Given the description of an element on the screen output the (x, y) to click on. 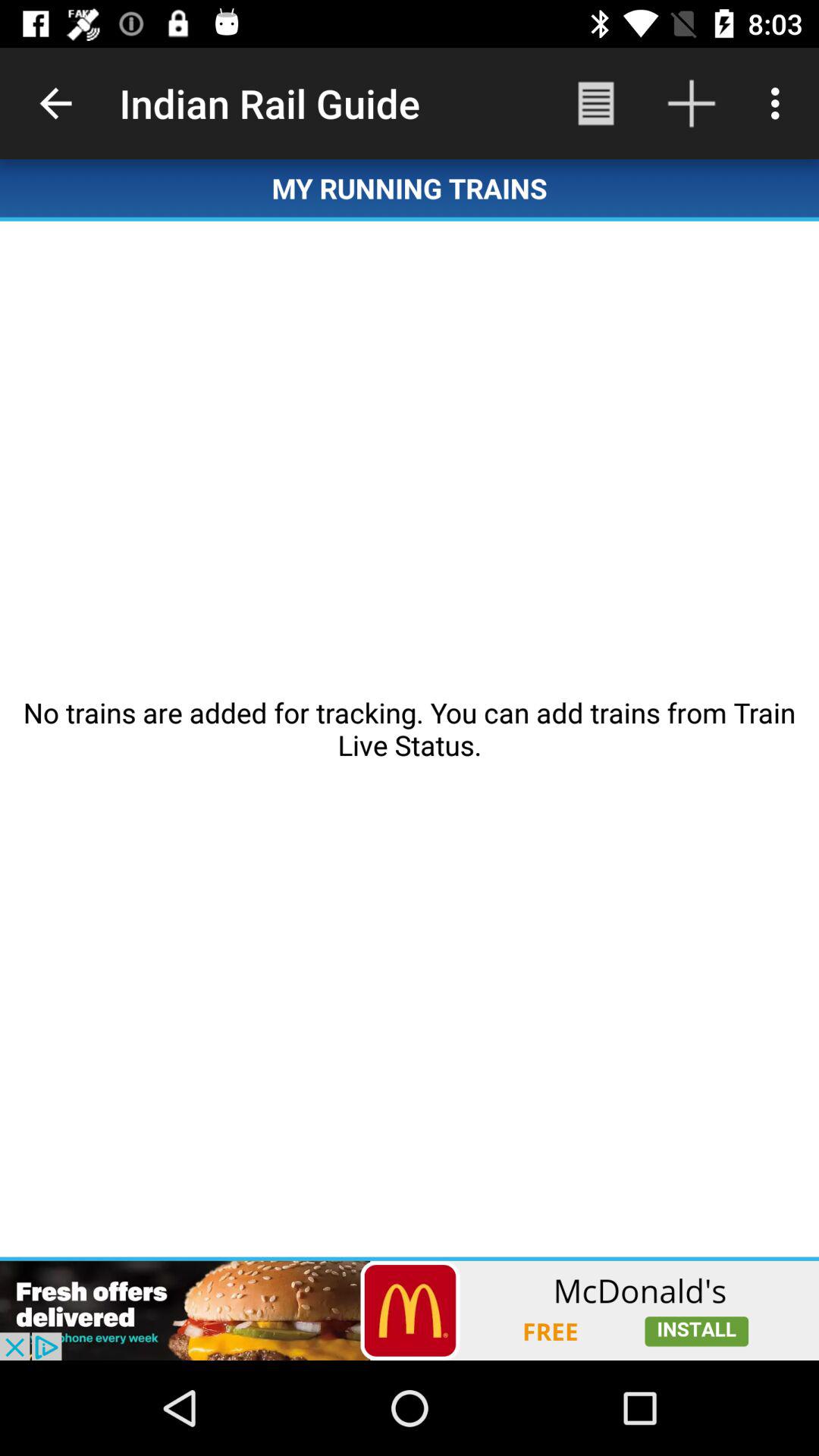
open an advertisements (409, 1310)
